Given the description of an element on the screen output the (x, y) to click on. 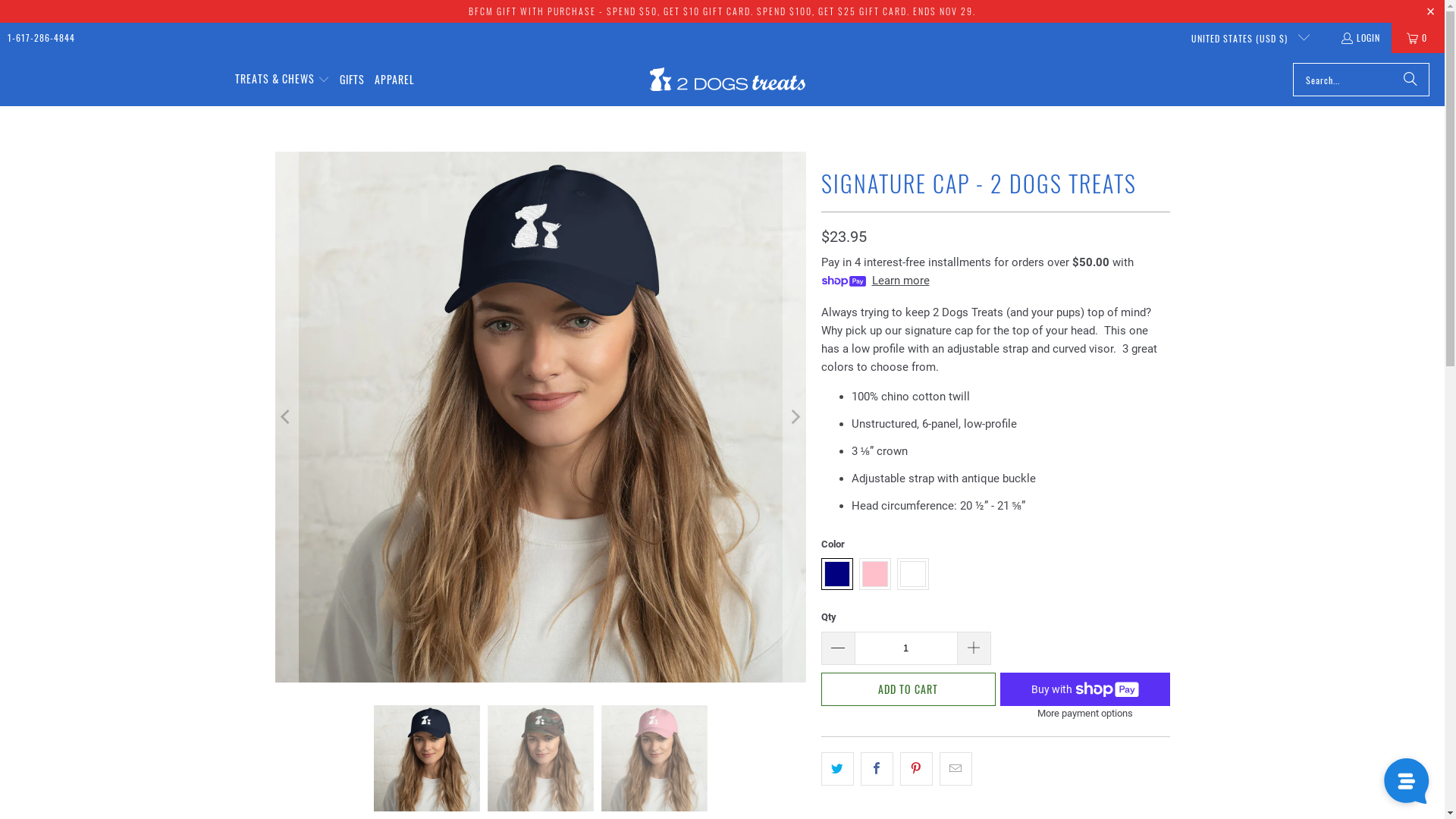
Share this on Pinterest Element type: hover (916, 768)
APPAREL Element type: text (394, 78)
UNITED STATES (USD $) Element type: text (1243, 37)
Email this to a friend Element type: hover (955, 768)
0 Element type: text (1417, 37)
2 Dogs Treats Element type: hover (727, 79)
More payment options Element type: text (1084, 717)
Share this on Twitter Element type: hover (836, 768)
1-617-286-4844 Element type: text (41, 37)
ADD TO CART Element type: text (907, 688)
Share this on Facebook Element type: hover (876, 768)
GIFTS Element type: text (351, 78)
LOGIN Element type: text (1359, 37)
